Given the description of an element on the screen output the (x, y) to click on. 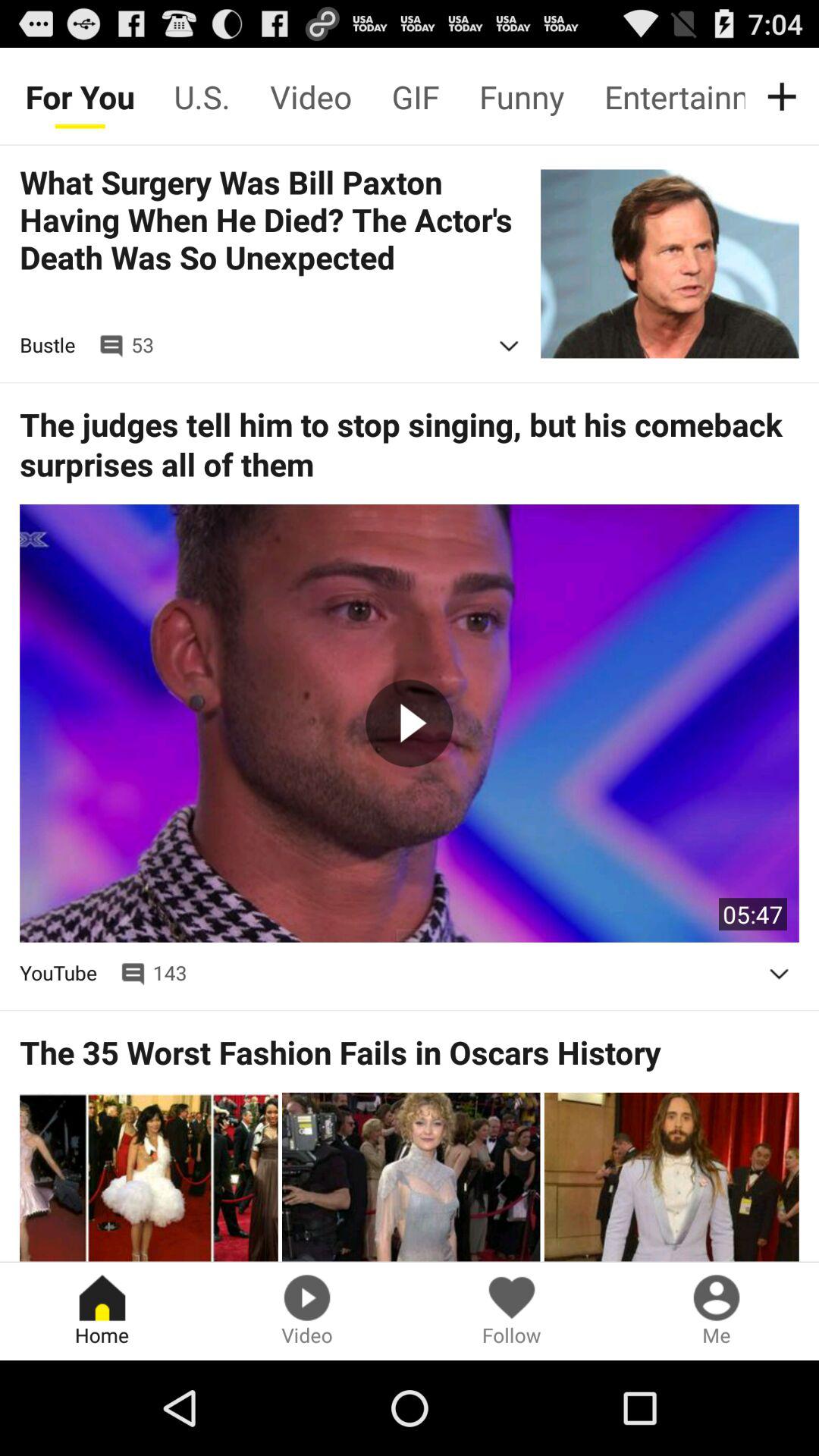
toggle autoplay option (779, 974)
